Given the description of an element on the screen output the (x, y) to click on. 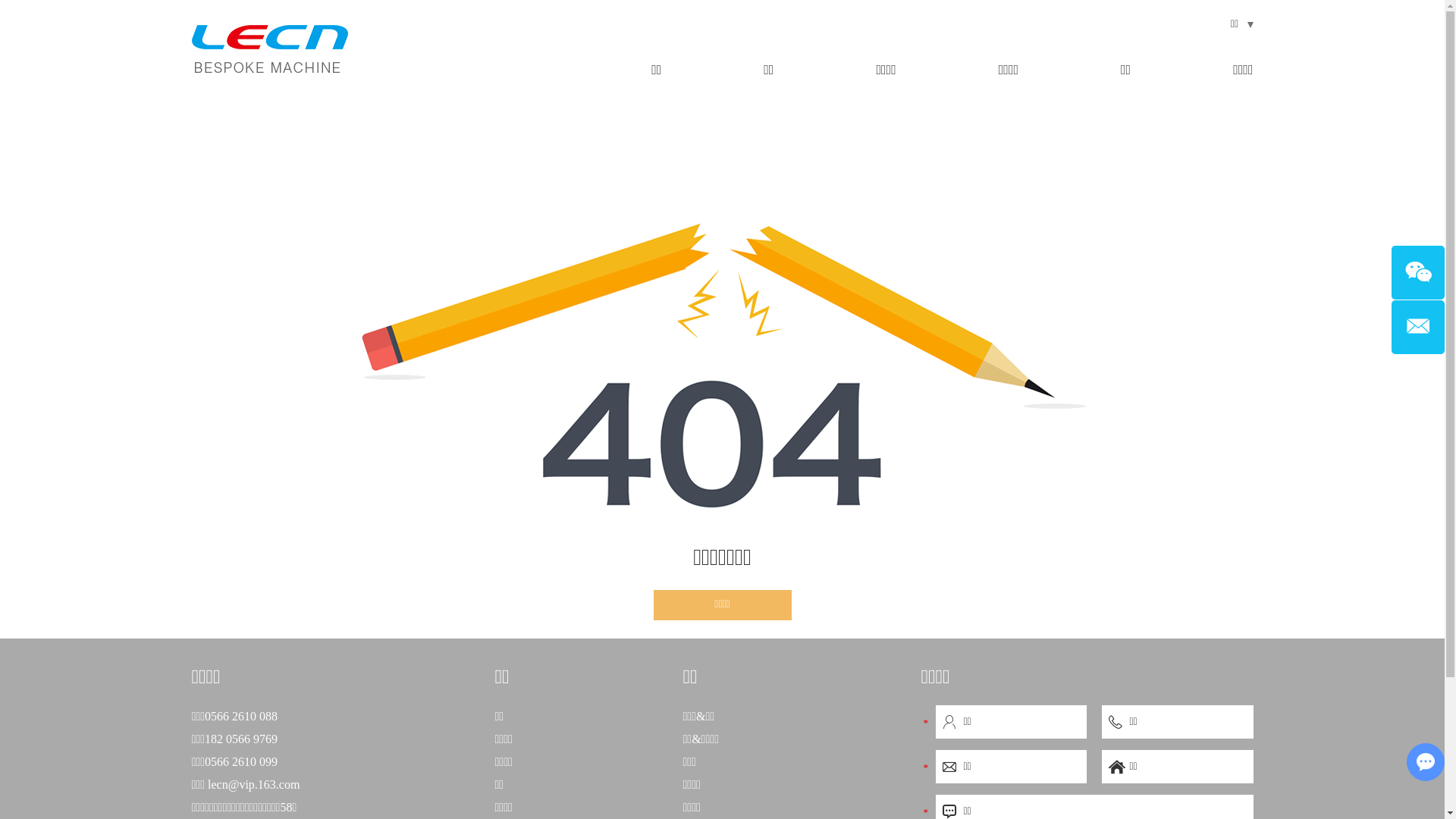
lecn@vip.163.com Element type: text (253, 784)
